Given the description of an element on the screen output the (x, y) to click on. 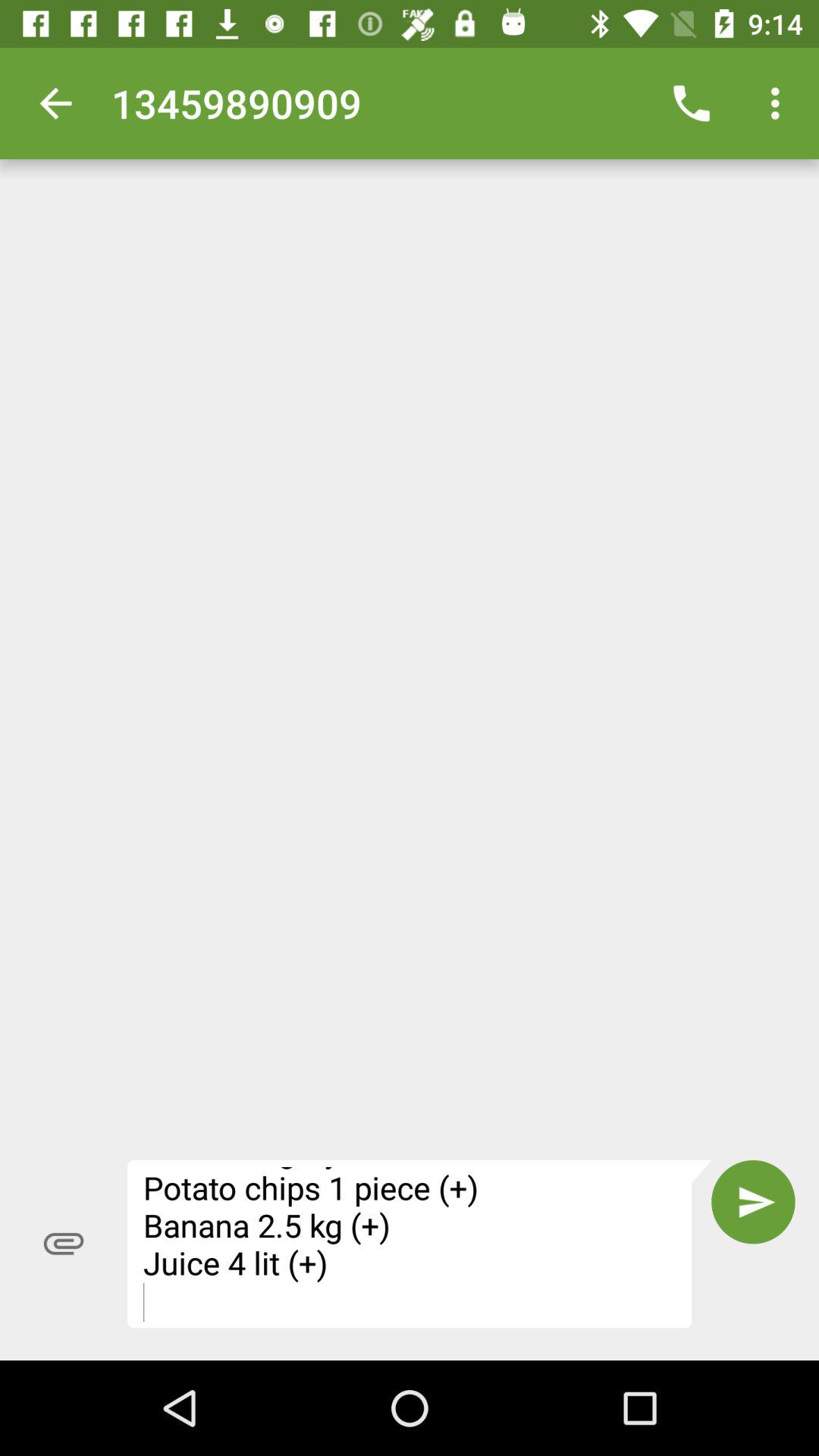
tap fivefly shopping list item (419, 1244)
